Given the description of an element on the screen output the (x, y) to click on. 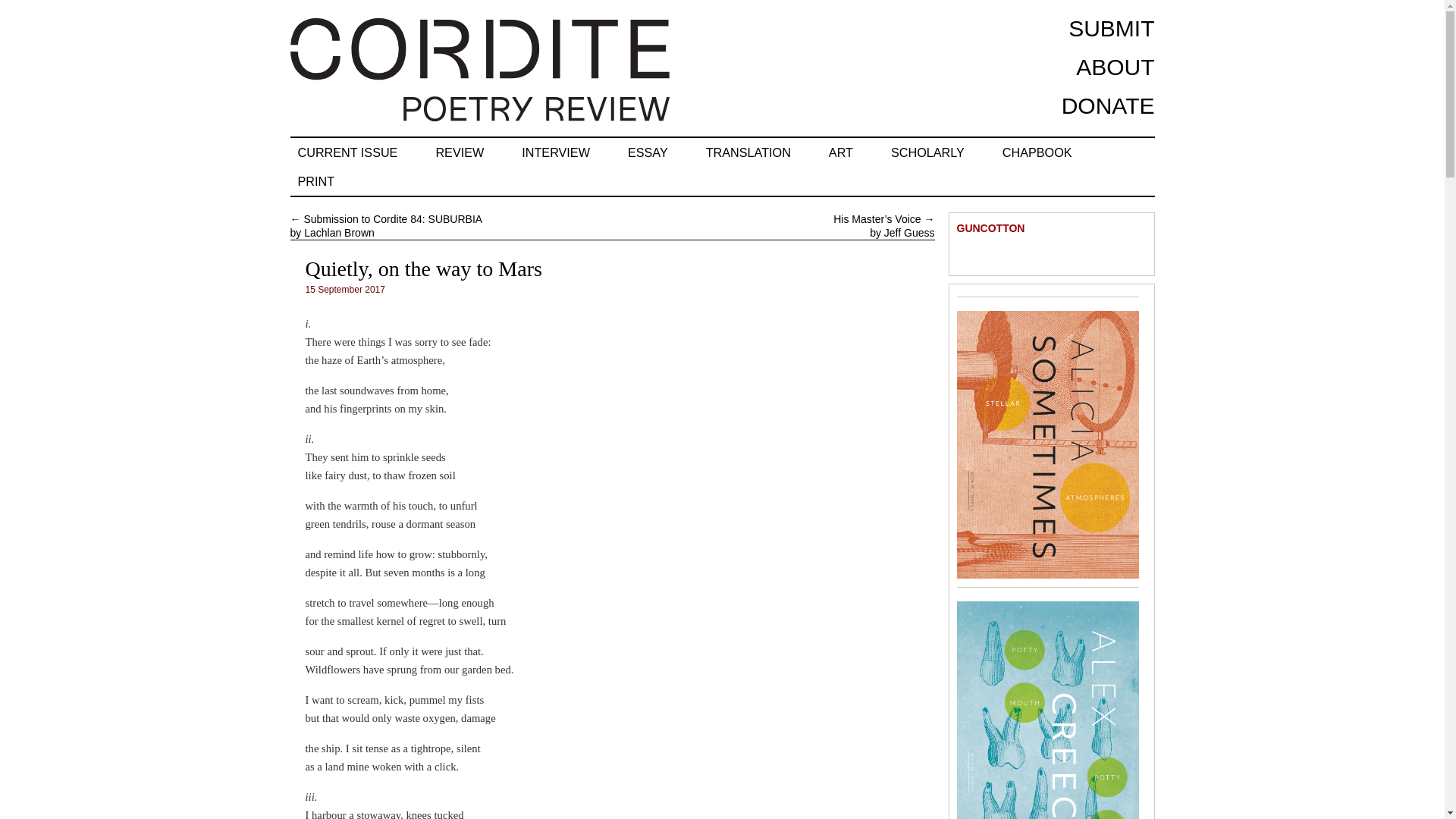
DONATE (1107, 105)
CHAPBOOK (1037, 152)
SCHOLARLY (927, 152)
SUBMIT (1111, 27)
Submission to Cordite 84: SUBURBIA (391, 218)
PRINT (315, 181)
TRANSLATION (747, 152)
REVIEW (460, 152)
CURRENT ISSUE (346, 152)
Submission to Cordite 84: SUBURBIA (391, 218)
ESSAY (647, 152)
ABOUT (1114, 66)
INTERVIEW (554, 152)
ART (840, 152)
